Given the description of an element on the screen output the (x, y) to click on. 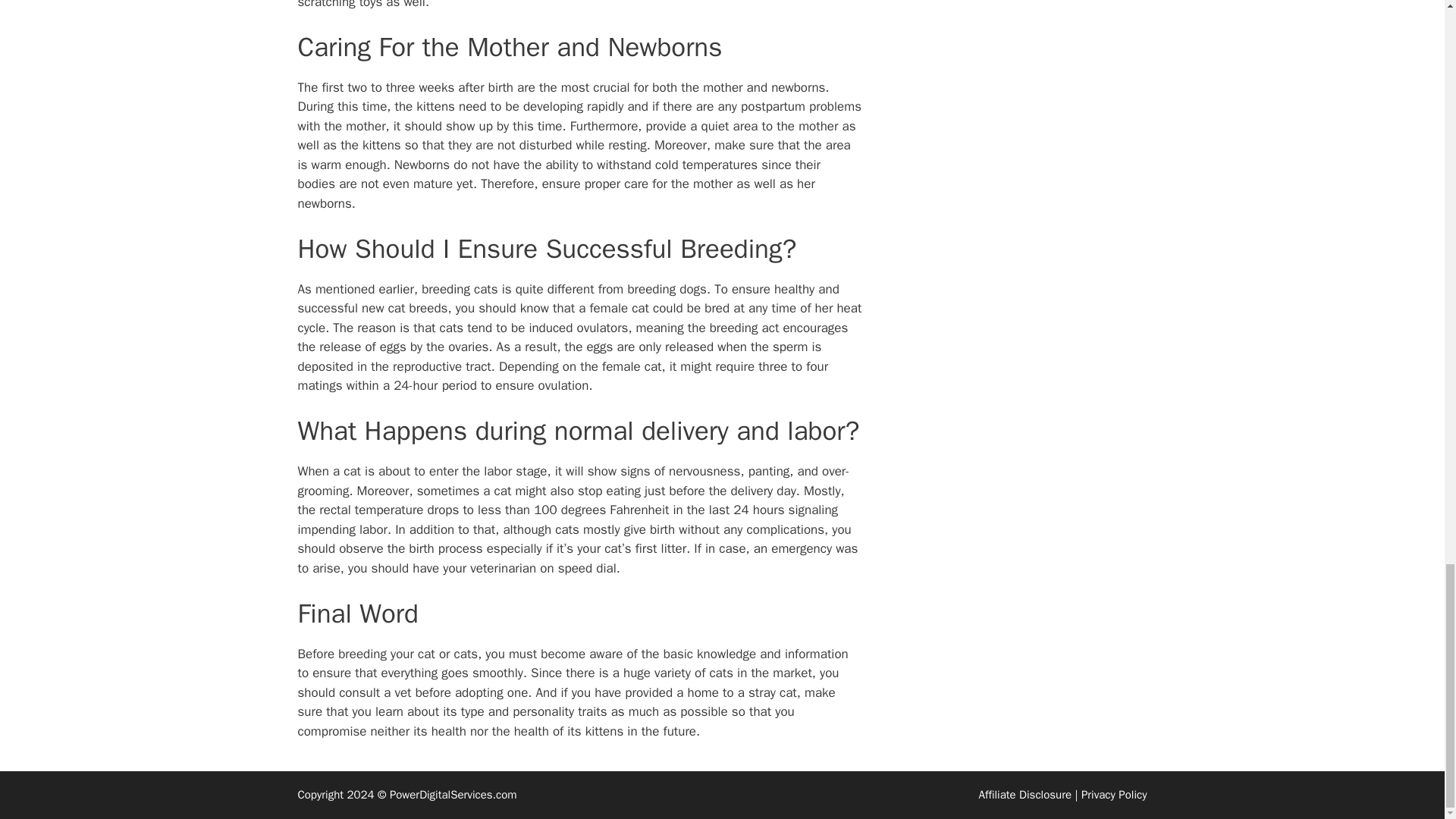
PowerDigitalServices.com (453, 794)
Privacy Policy (1114, 794)
Affiliate Disclosure (1024, 794)
